Given the description of an element on the screen output the (x, y) to click on. 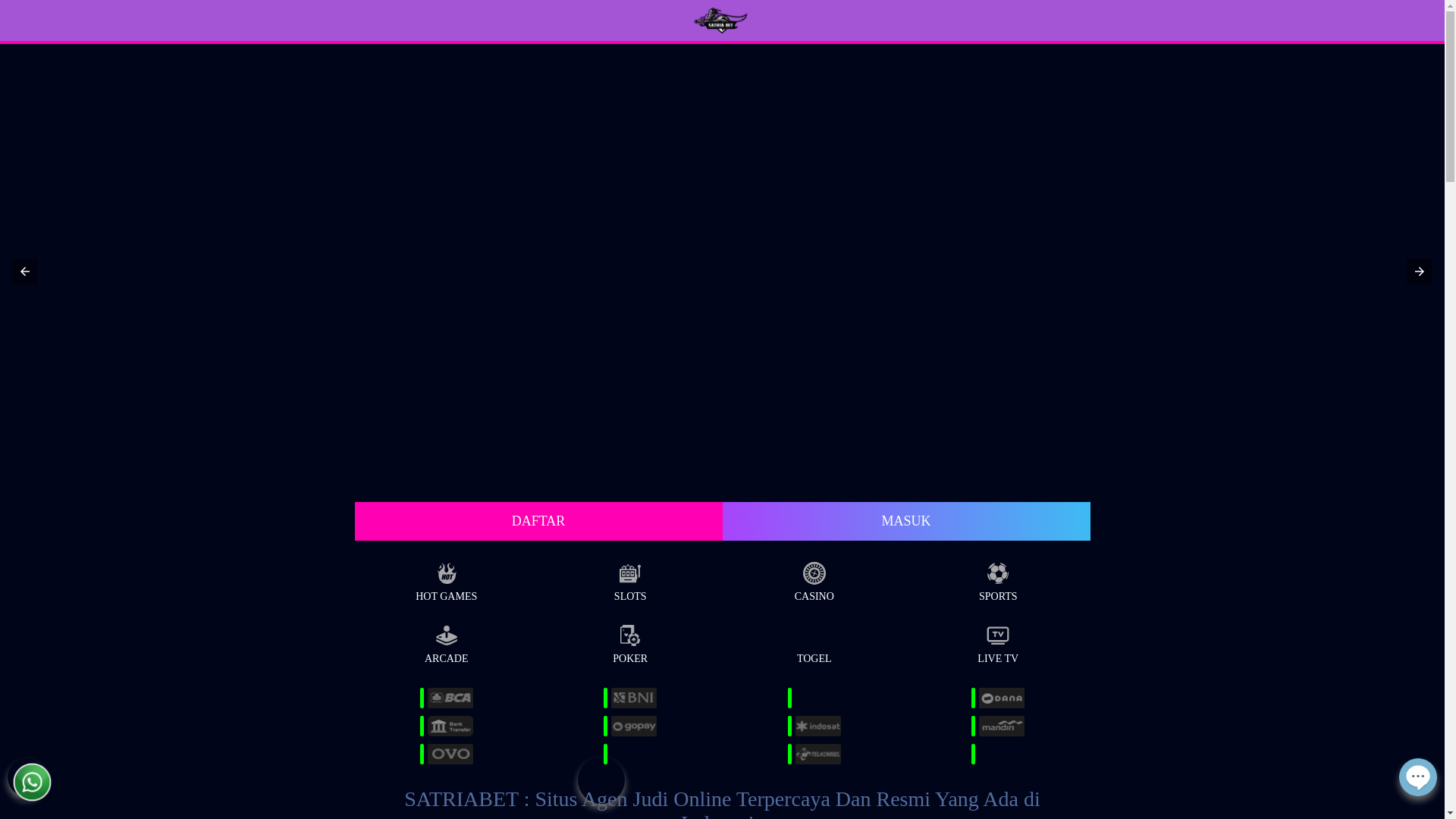
SLOTS Element type: text (630, 579)
POKER Element type: text (630, 641)
MASUK Element type: text (905, 521)
CASINO Element type: text (814, 579)
Live Chat Element type: hover (1418, 786)
Next item in carousel (3 of 3) Element type: hover (1419, 271)
Previous item in carousel (1 of 3) Element type: hover (24, 271)
LIVE TV Element type: text (998, 641)
HOT GAMES Element type: text (445, 579)
SPORTS Element type: text (998, 579)
DAFTAR Element type: text (538, 521)
ARCADE Element type: text (445, 641)
TOGEL Element type: text (814, 641)
Download APK Element type: hover (602, 796)
